Given the description of an element on the screen output the (x, y) to click on. 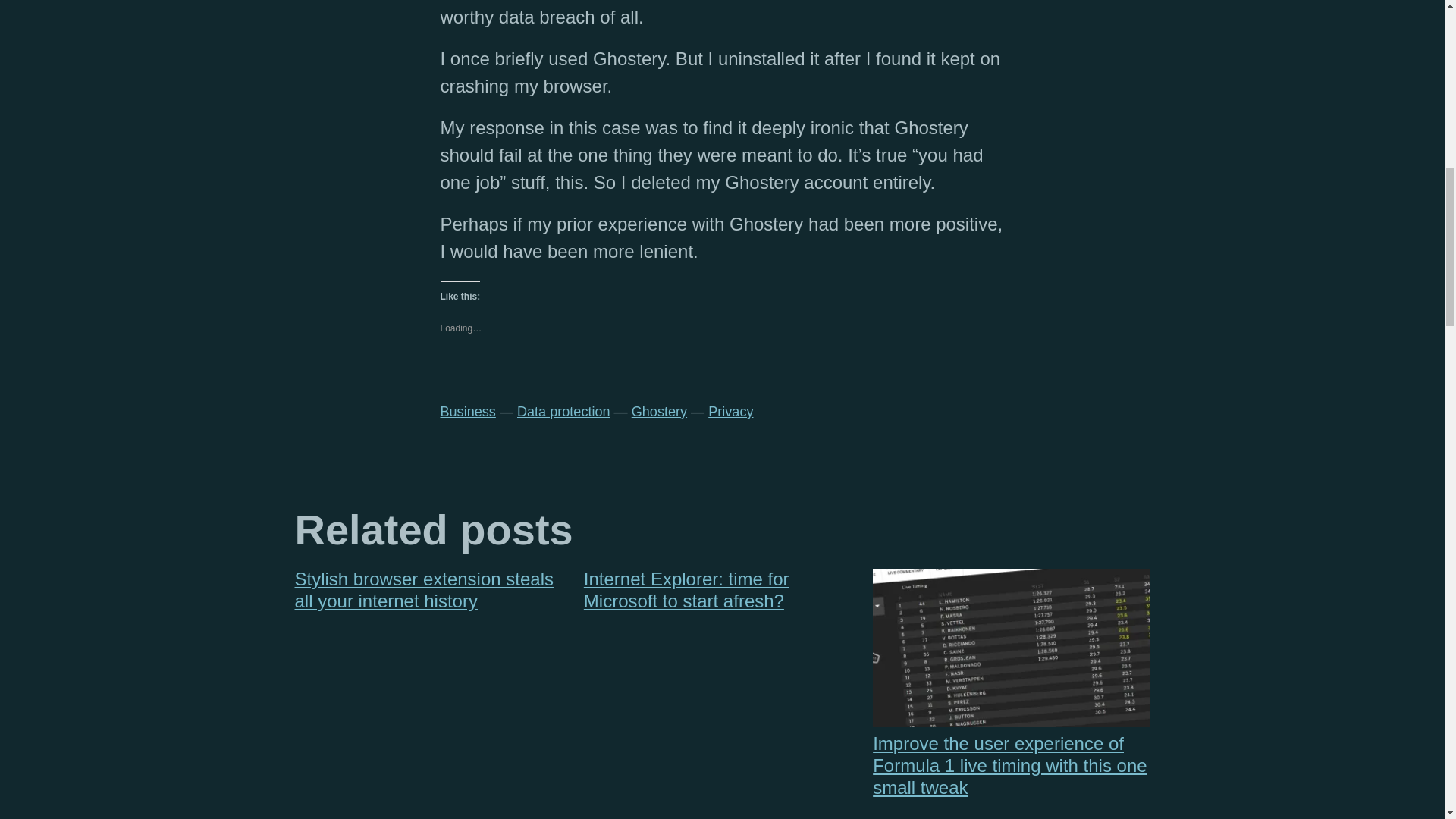
Stylish browser extension steals all your internet history (432, 590)
Internet Explorer: time for Microsoft to start afresh? (721, 590)
Business (467, 411)
Privacy (729, 411)
Ghostery (659, 411)
Data protection (563, 411)
